Given the description of an element on the screen output the (x, y) to click on. 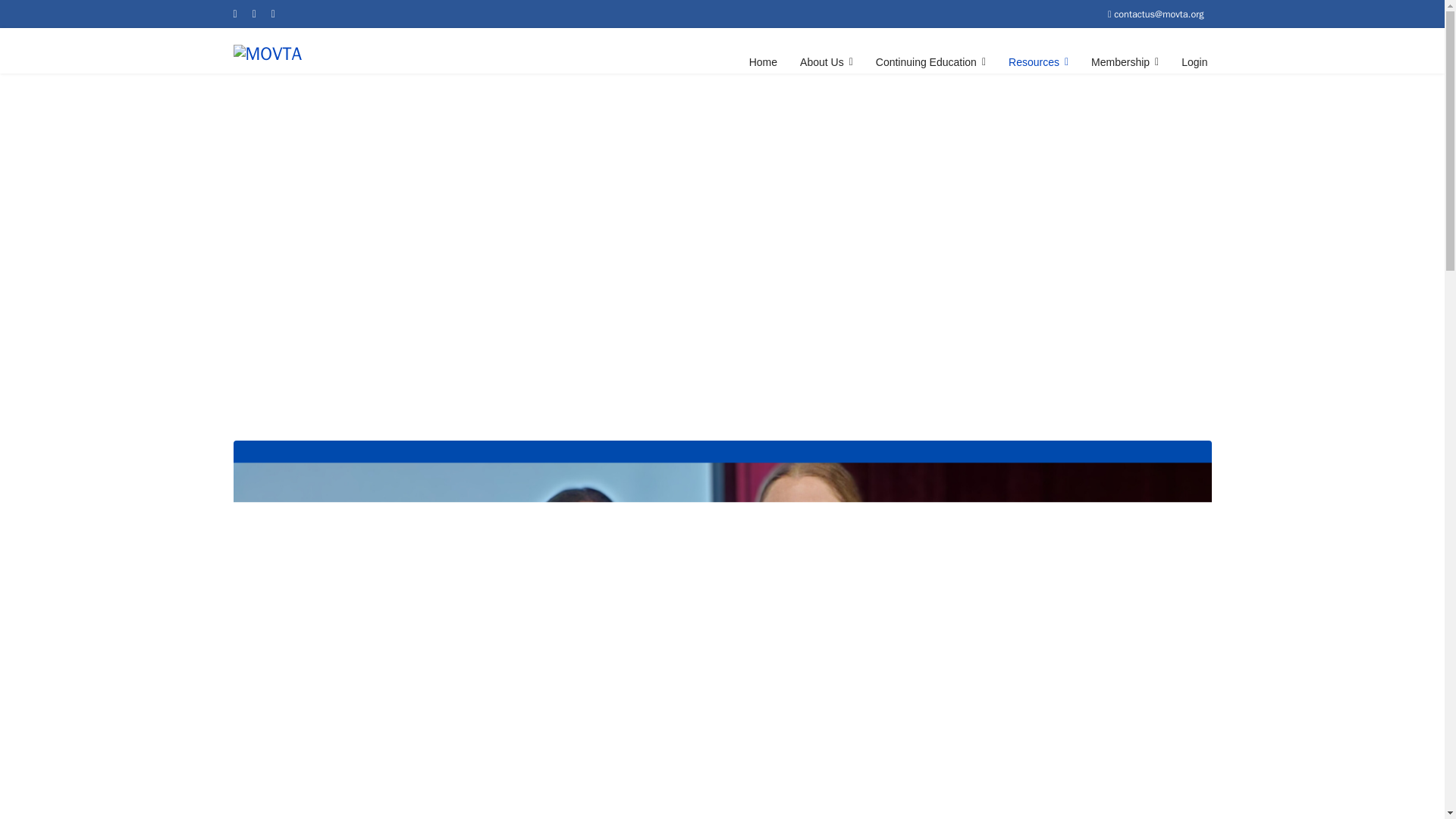
Resources (1038, 62)
Home (763, 62)
Continuing Education (930, 62)
Membership (1125, 62)
About Us (826, 62)
